Given the description of an element on the screen output the (x, y) to click on. 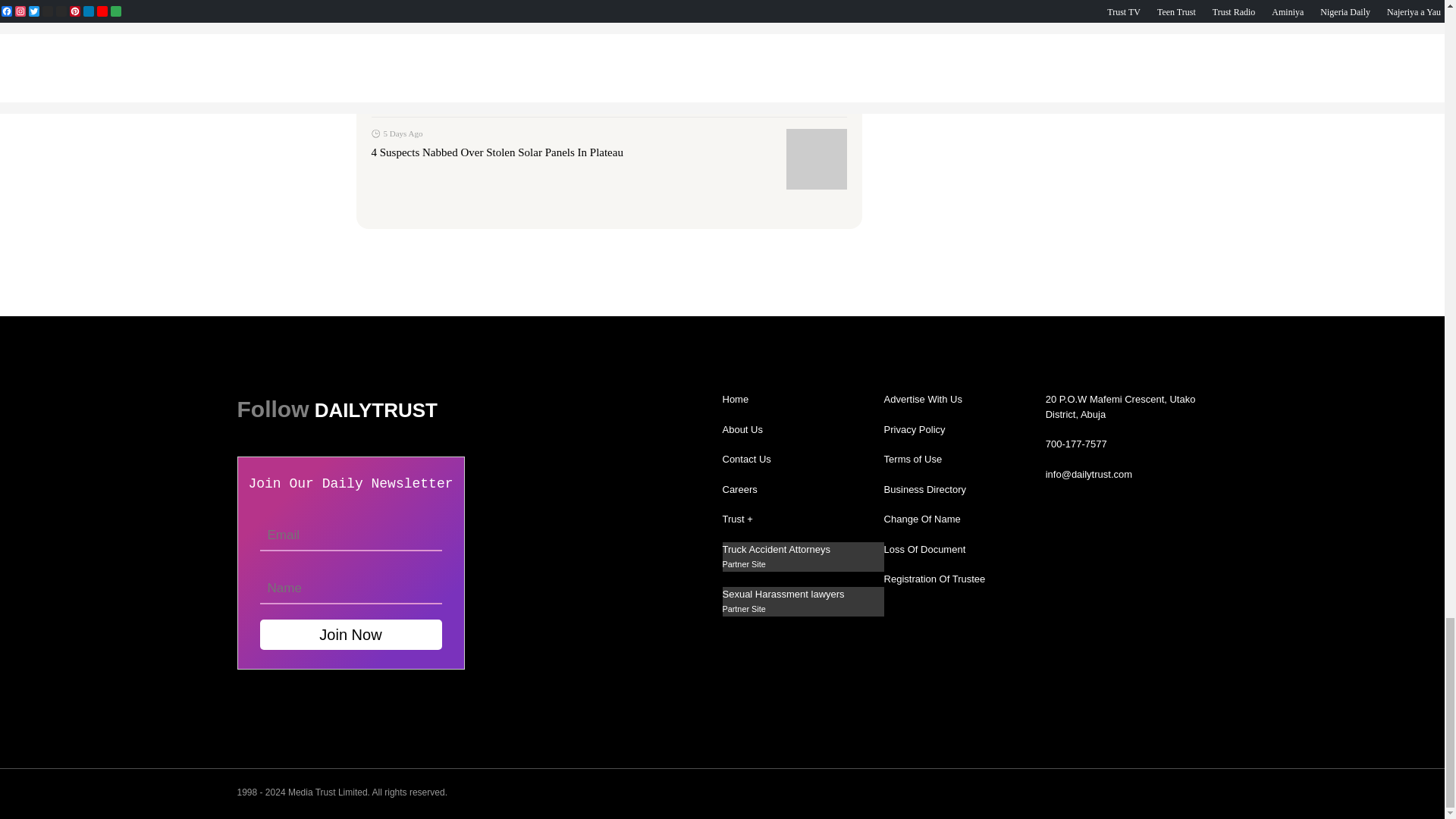
Join Now (350, 634)
